Given the description of an element on the screen output the (x, y) to click on. 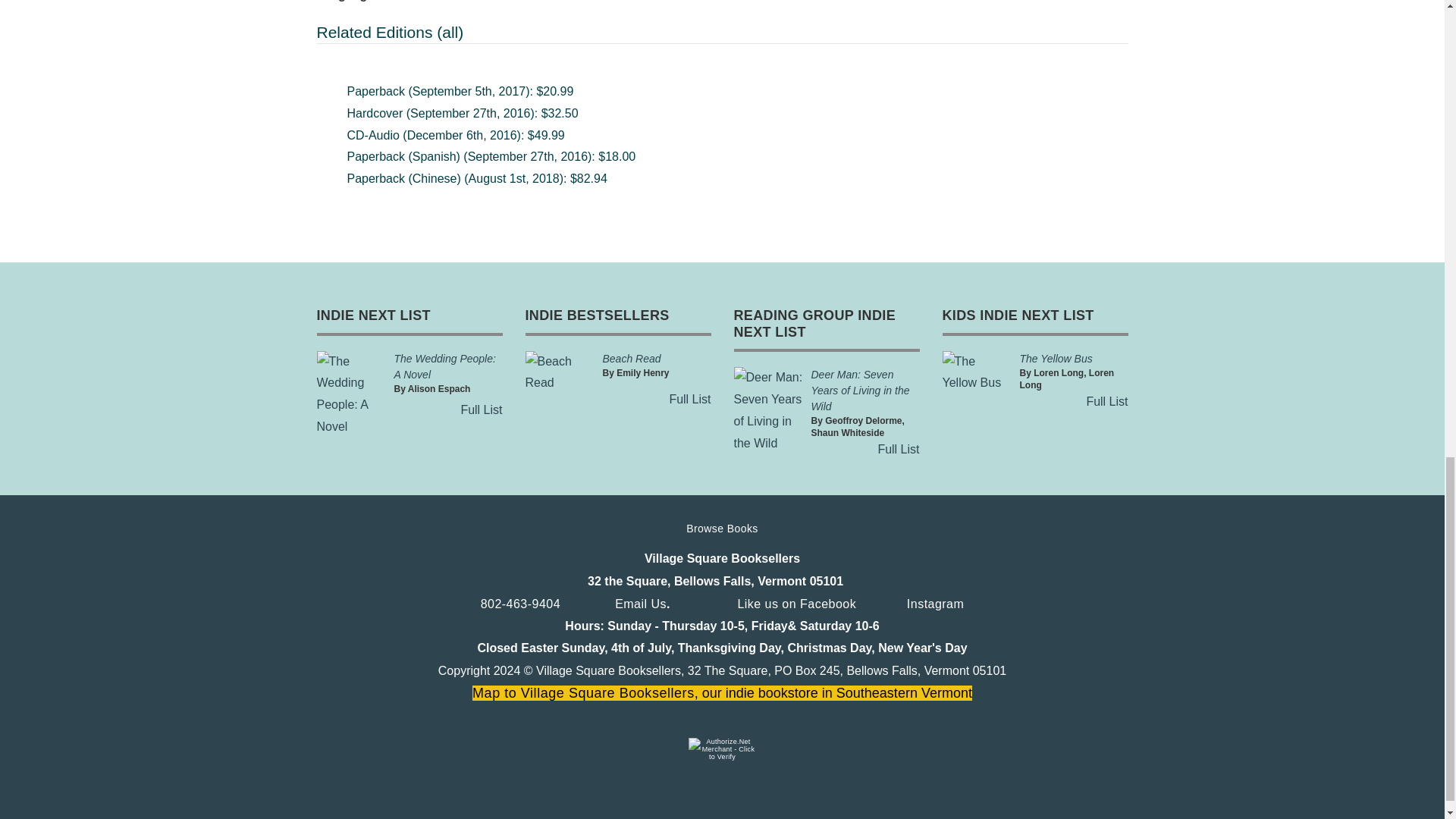
Full List (481, 409)
Beach Read - by Emily Henry (559, 372)
The Wedding People: A Novel - by Alison Espach (445, 366)
The Yellow Bus - by Loren Long, Loren Long (1055, 358)
The Wedding People: A Novel (445, 366)
Beach Read - by Emily Henry (631, 358)
The Yellow Bus - by Loren Long, Loren Long (976, 372)
